Given the description of an element on the screen output the (x, y) to click on. 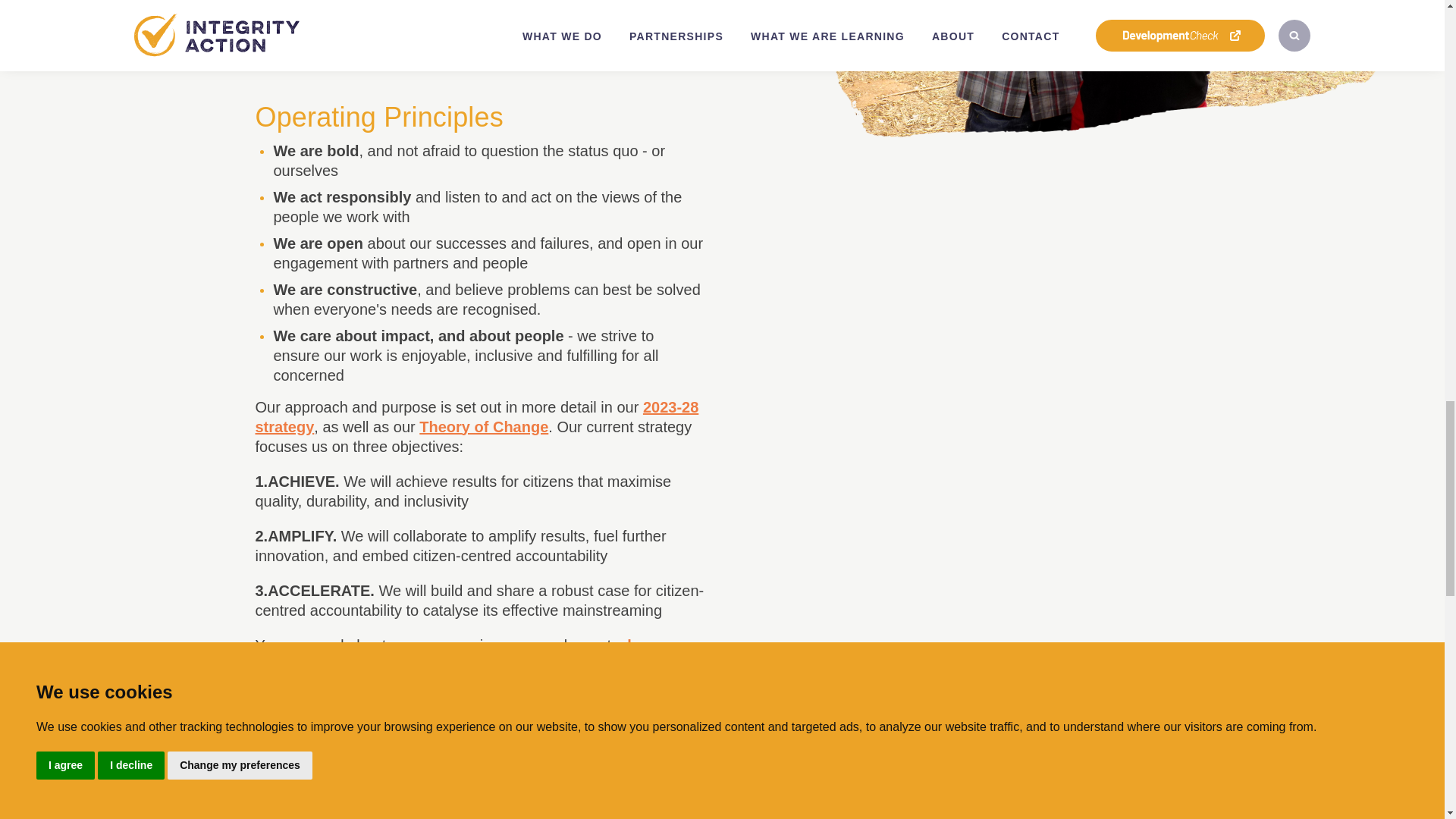
Theory of Change (483, 426)
2023-28 strategy (476, 416)
here. (645, 645)
